Given the description of an element on the screen output the (x, y) to click on. 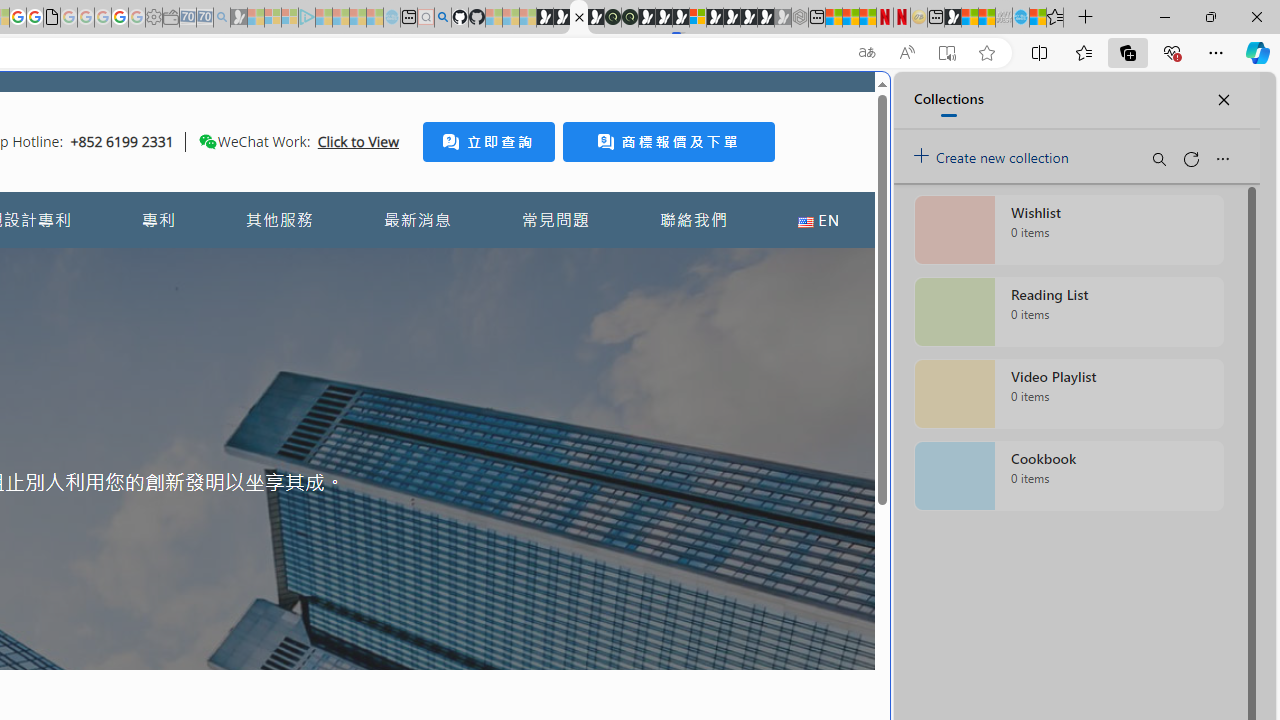
Play Free Online Games | Games from Microsoft Start (731, 17)
Frequently visited (418, 265)
Microsoft Start - Sleeping (357, 17)
github - Search (442, 17)
Tabs you've opened (276, 265)
EN (818, 220)
